Given the description of an element on the screen output the (x, y) to click on. 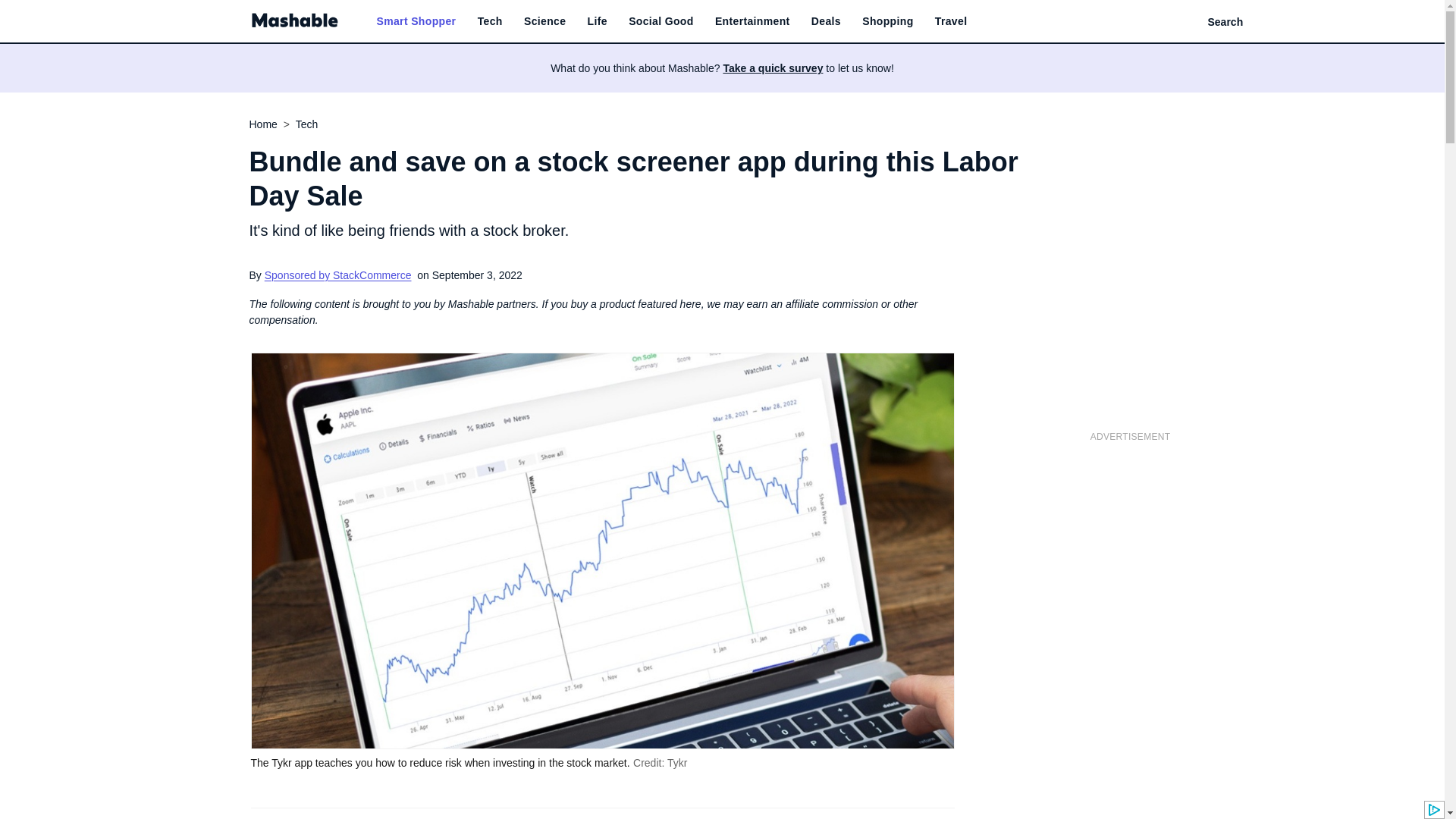
Entertainment (752, 21)
Shopping (886, 21)
Smart Shopper (415, 21)
Deals (825, 21)
Life (597, 21)
Science (545, 21)
Tech (489, 21)
Travel (951, 21)
Social Good (661, 21)
